Given the description of an element on the screen output the (x, y) to click on. 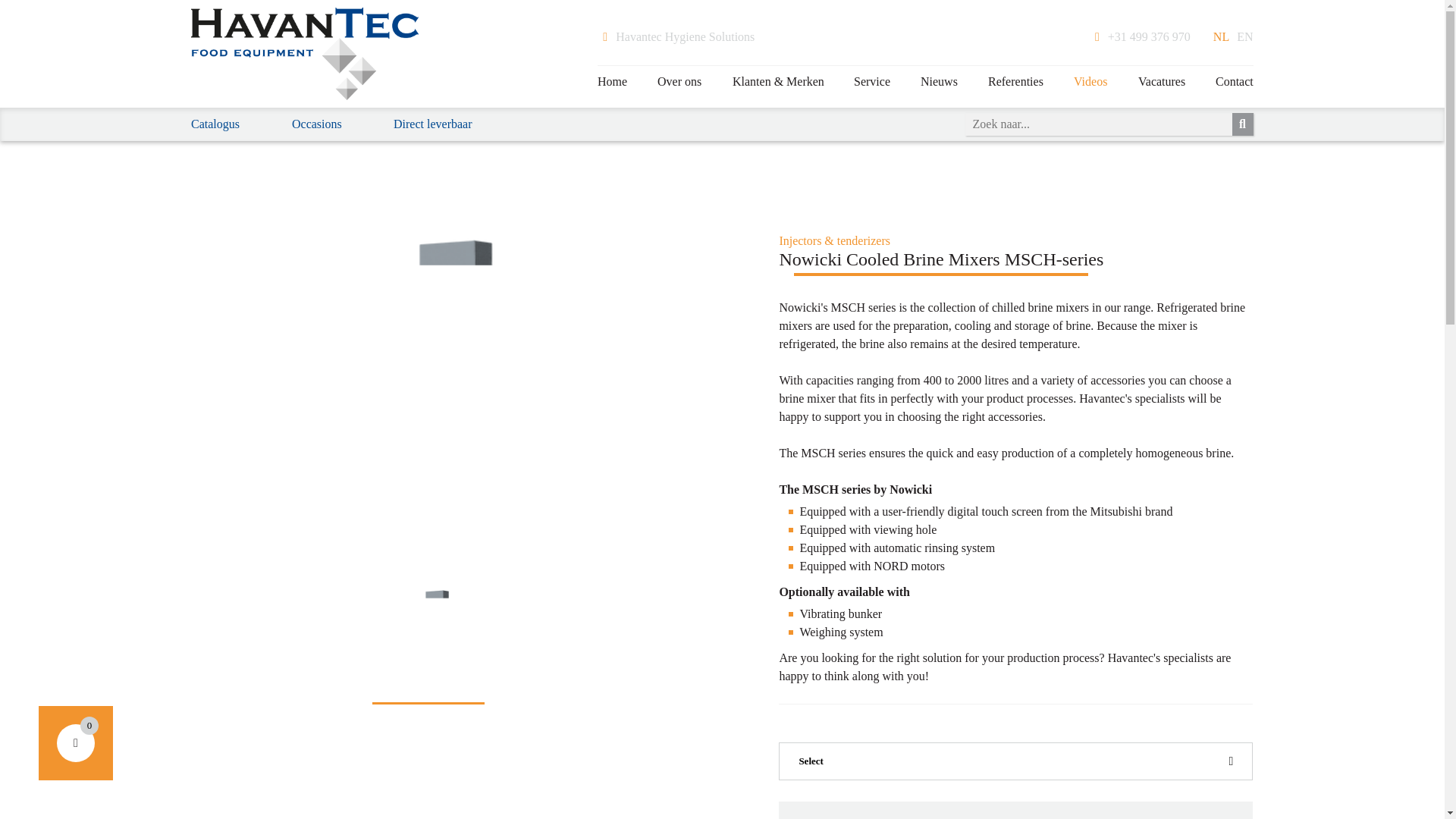
Referenties (1015, 81)
Nieuws (938, 81)
Over ons (679, 81)
Contact (1233, 81)
Havantec Hygiene Solutions (675, 36)
Service (871, 81)
Home (612, 81)
Videos (1090, 81)
Vacatures (1160, 81)
Direct leverbaar (433, 124)
Occasions (317, 124)
Catalogus (215, 124)
